Given the description of an element on the screen output the (x, y) to click on. 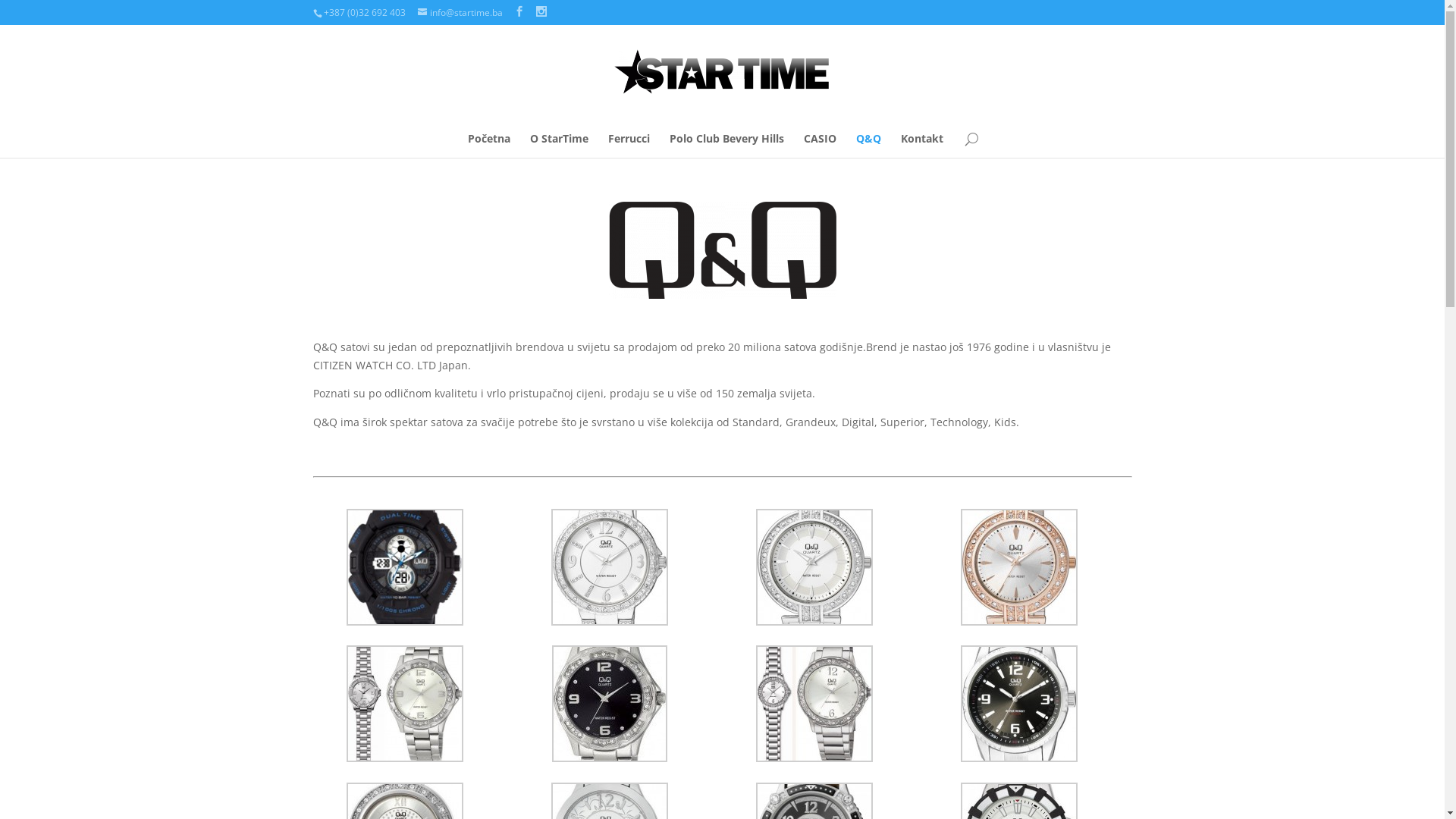
O StarTime Element type: text (559, 143)
Polo Club Bevery Hills Element type: text (726, 143)
CASIO Element type: text (819, 143)
Q&Q Element type: text (868, 143)
Ferrucci Element type: text (628, 143)
Kontakt Element type: text (921, 143)
info@startime.ba Element type: text (459, 12)
